Given the description of an element on the screen output the (x, y) to click on. 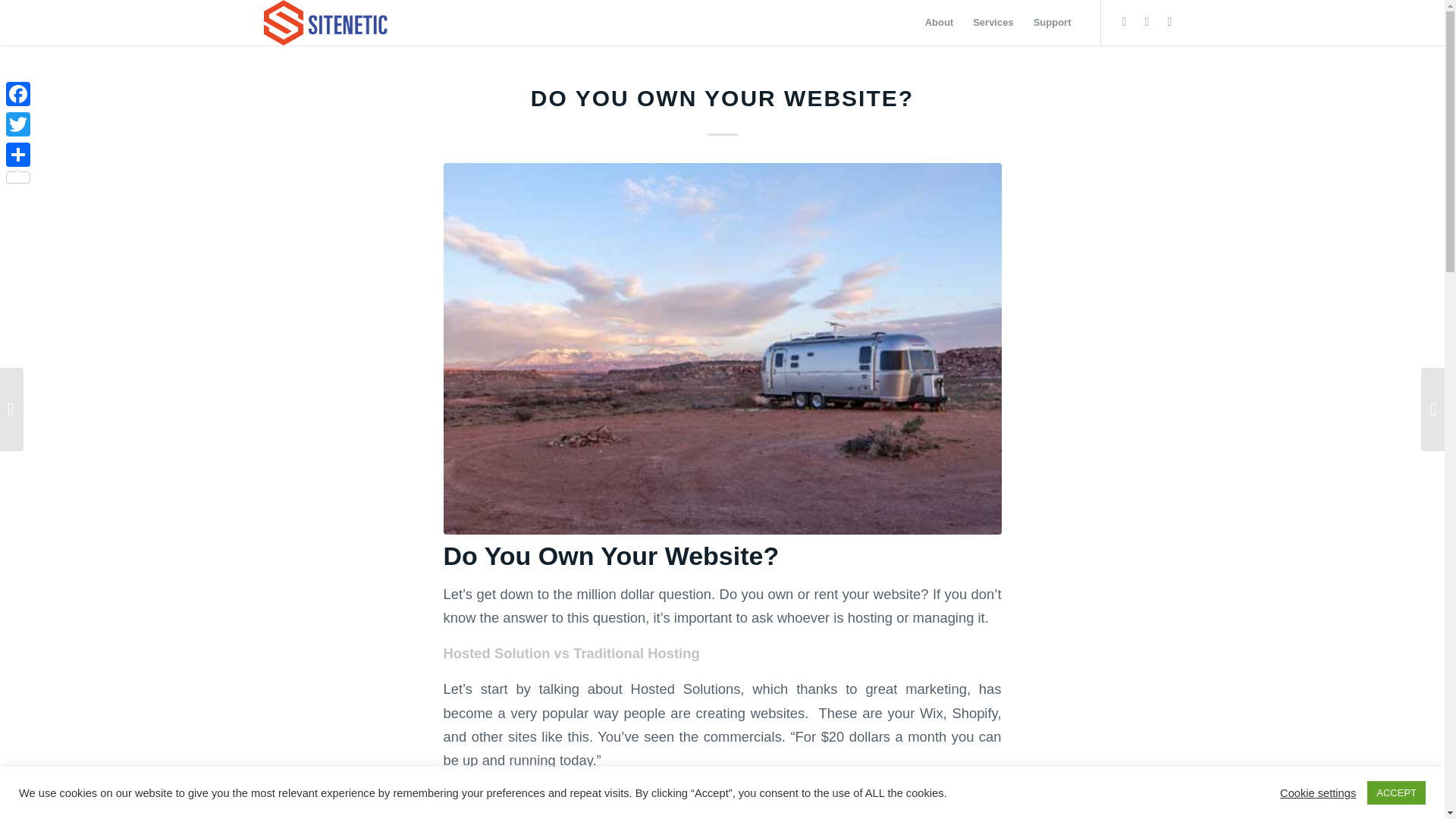
Services (992, 22)
Twitter (17, 123)
About (939, 22)
Facebook (1146, 21)
Permanent Link: Do You Own Your Website? (722, 97)
Twitter (1124, 21)
Support (1052, 22)
Youtube (1169, 21)
DO YOU OWN YOUR WEBSITE? (722, 97)
Facebook (17, 93)
